Given the description of an element on the screen output the (x, y) to click on. 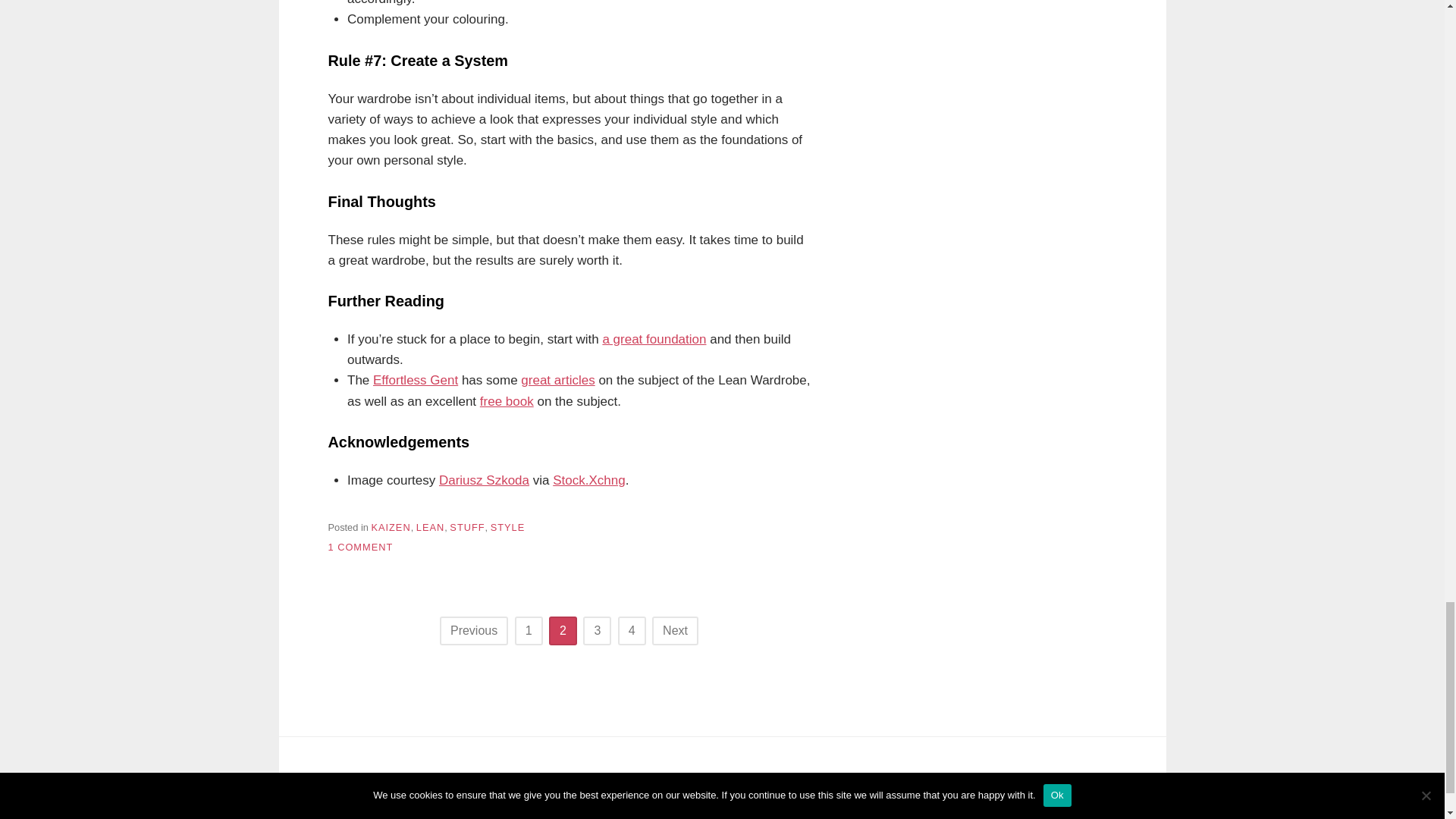
LEAN (430, 527)
1 (529, 630)
STYLE (507, 527)
great articles (557, 380)
a great foundation (654, 339)
Miniva WordPress Theme (454, 792)
3 (597, 630)
Next (675, 630)
free book (507, 400)
Stock.Xchng (588, 480)
